Given the description of an element on the screen output the (x, y) to click on. 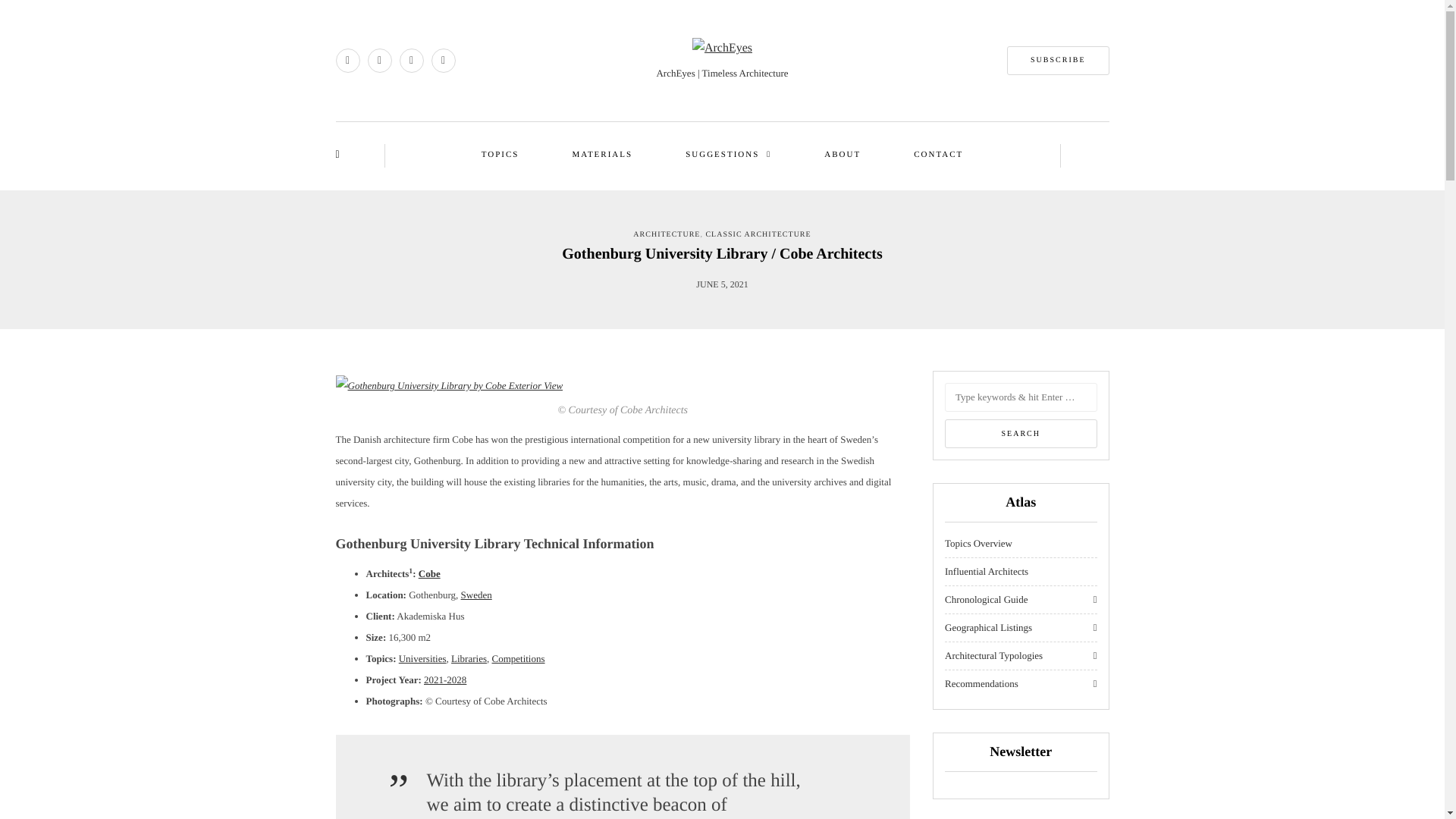
MATERIALS (601, 155)
SUGGESTIONS (727, 155)
ARCHITECTURE (666, 234)
2021-2028 (444, 679)
Search (1020, 433)
CONTACT (938, 155)
SUBSCRIBE (1057, 60)
TOPICS (499, 155)
Gothenburg University Library by Cobe Exterior View (448, 385)
Libraries (468, 658)
